Given the description of an element on the screen output the (x, y) to click on. 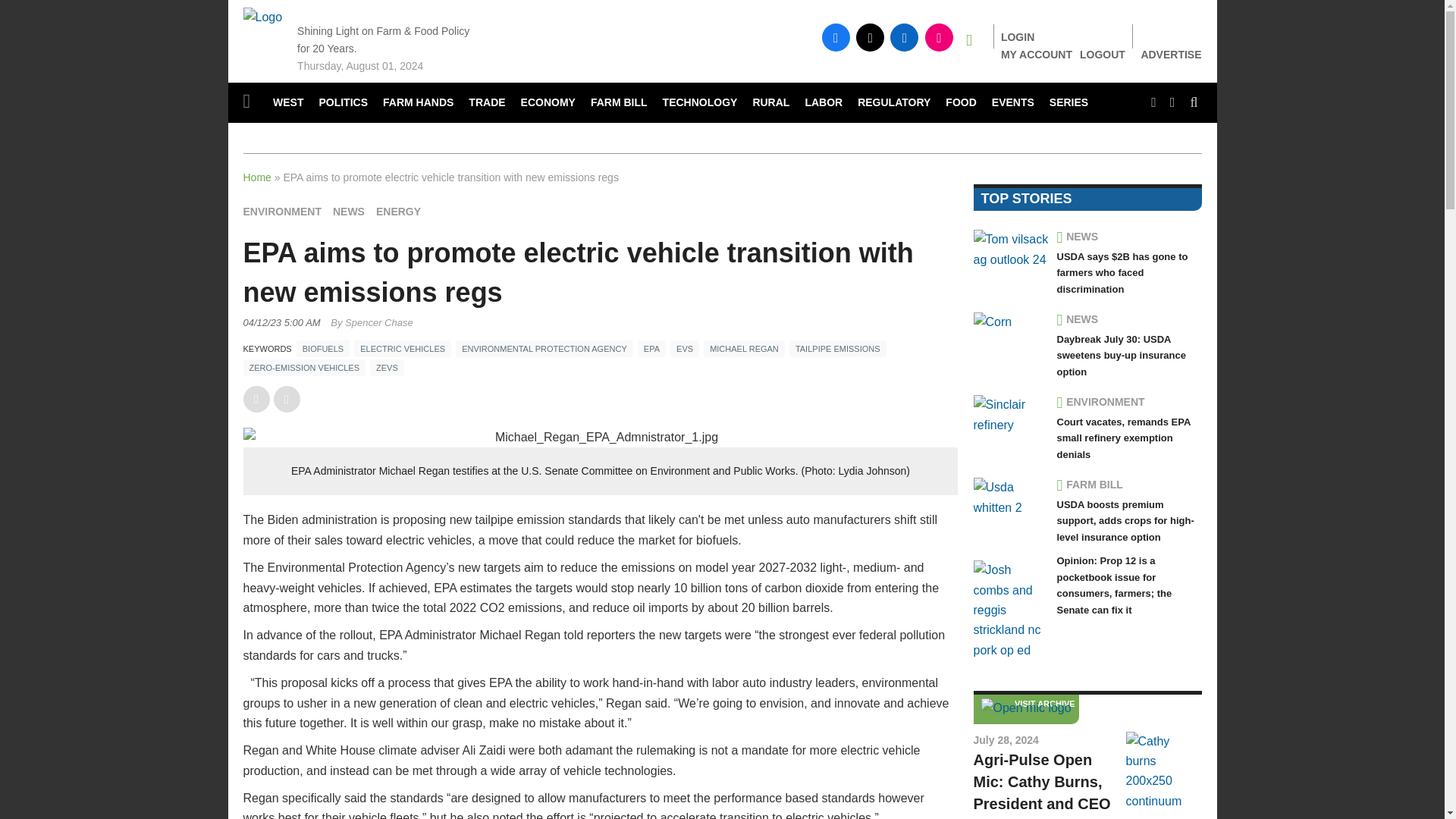
RURAL (770, 102)
TRADE (486, 102)
REGULATORY (893, 102)
ADVERTISE (1170, 54)
LABOR (823, 102)
ECONOMY (548, 102)
LOGOUT (1102, 54)
TECHNOLOGY (700, 102)
EVENTS (1013, 102)
POLITICS (343, 102)
WEST (287, 102)
FARM HANDS (418, 102)
FARM BILL (619, 102)
LOGIN (1017, 37)
FOOD (960, 102)
